Given the description of an element on the screen output the (x, y) to click on. 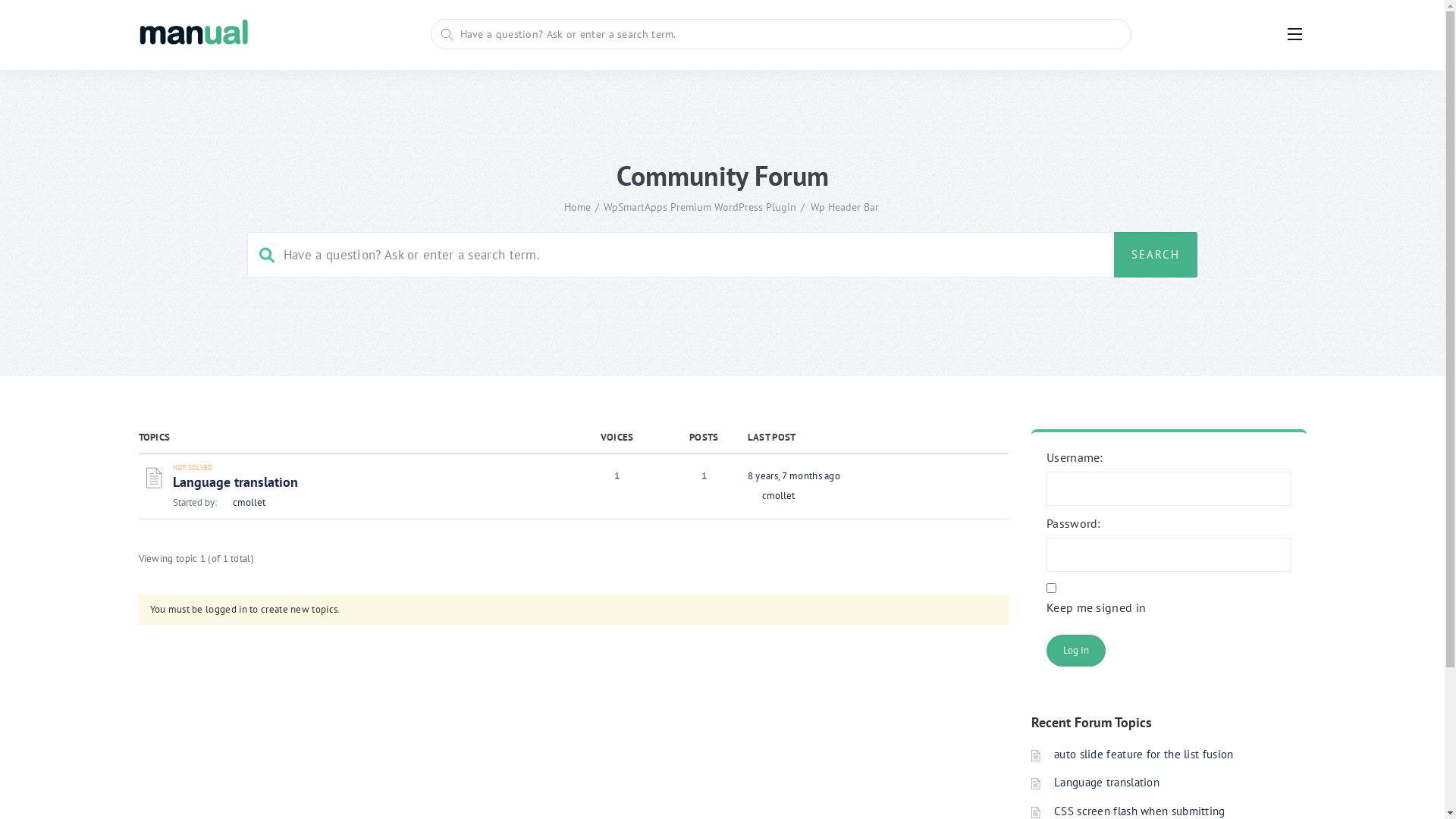
Search Element type: text (1155, 254)
8 years, 7 months ago Element type: text (793, 475)
auto slide feature for the list fusion Element type: text (1143, 753)
Search Element type: text (1124, 393)
Language translation Element type: text (235, 481)
Log In Element type: text (1075, 650)
cmollet Element type: text (241, 501)
WpSmartApps Premium WordPress Plugin Element type: text (699, 206)
cmollet Element type: text (770, 495)
Search Element type: text (41, 18)
Language translation Element type: text (1106, 782)
CSS screen flash when submitting Element type: text (1139, 810)
Home Element type: text (577, 206)
